Given the description of an element on the screen output the (x, y) to click on. 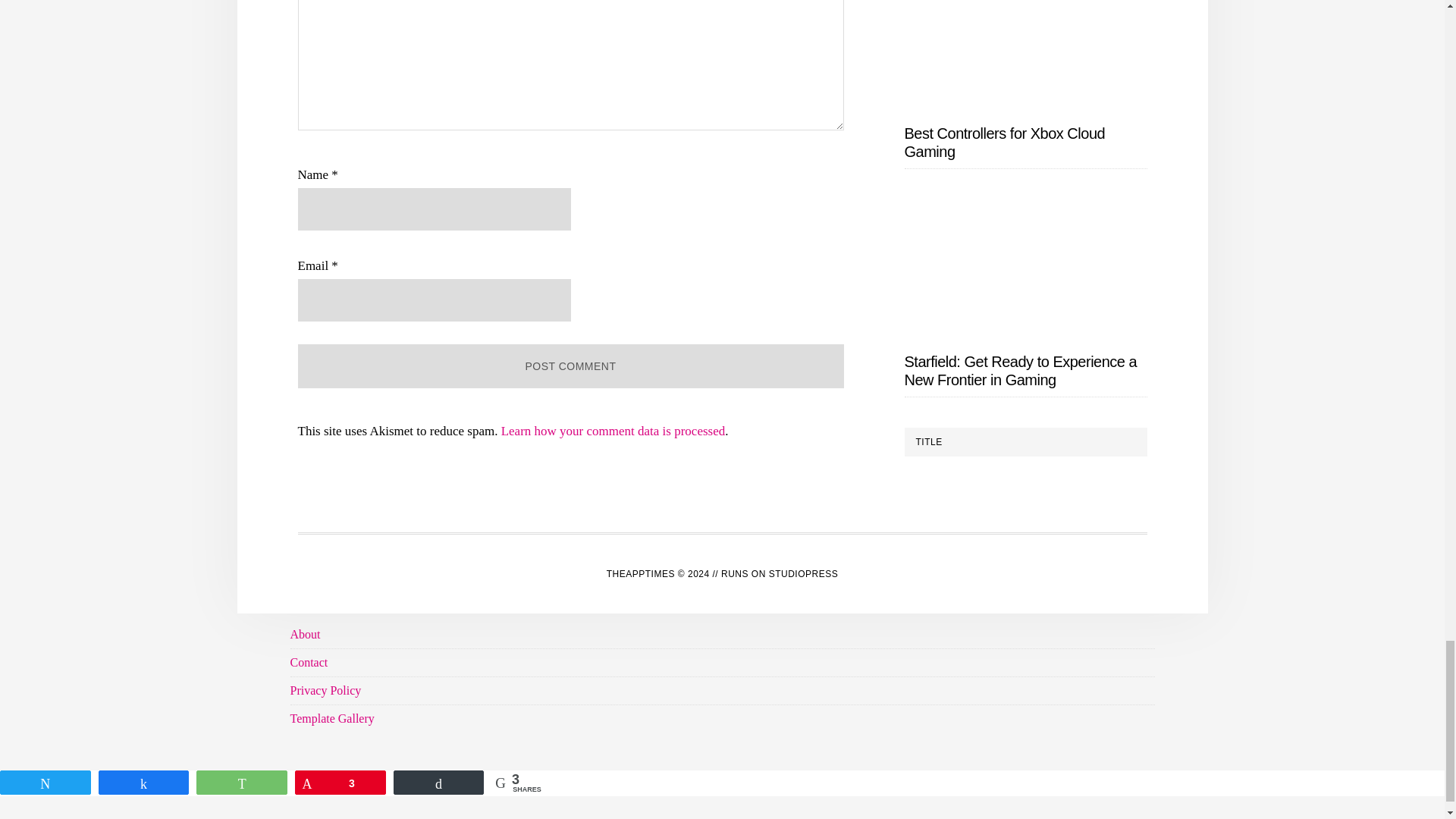
Learn how your comment data is processed (612, 431)
Post Comment (570, 365)
Post Comment (570, 365)
